Given the description of an element on the screen output the (x, y) to click on. 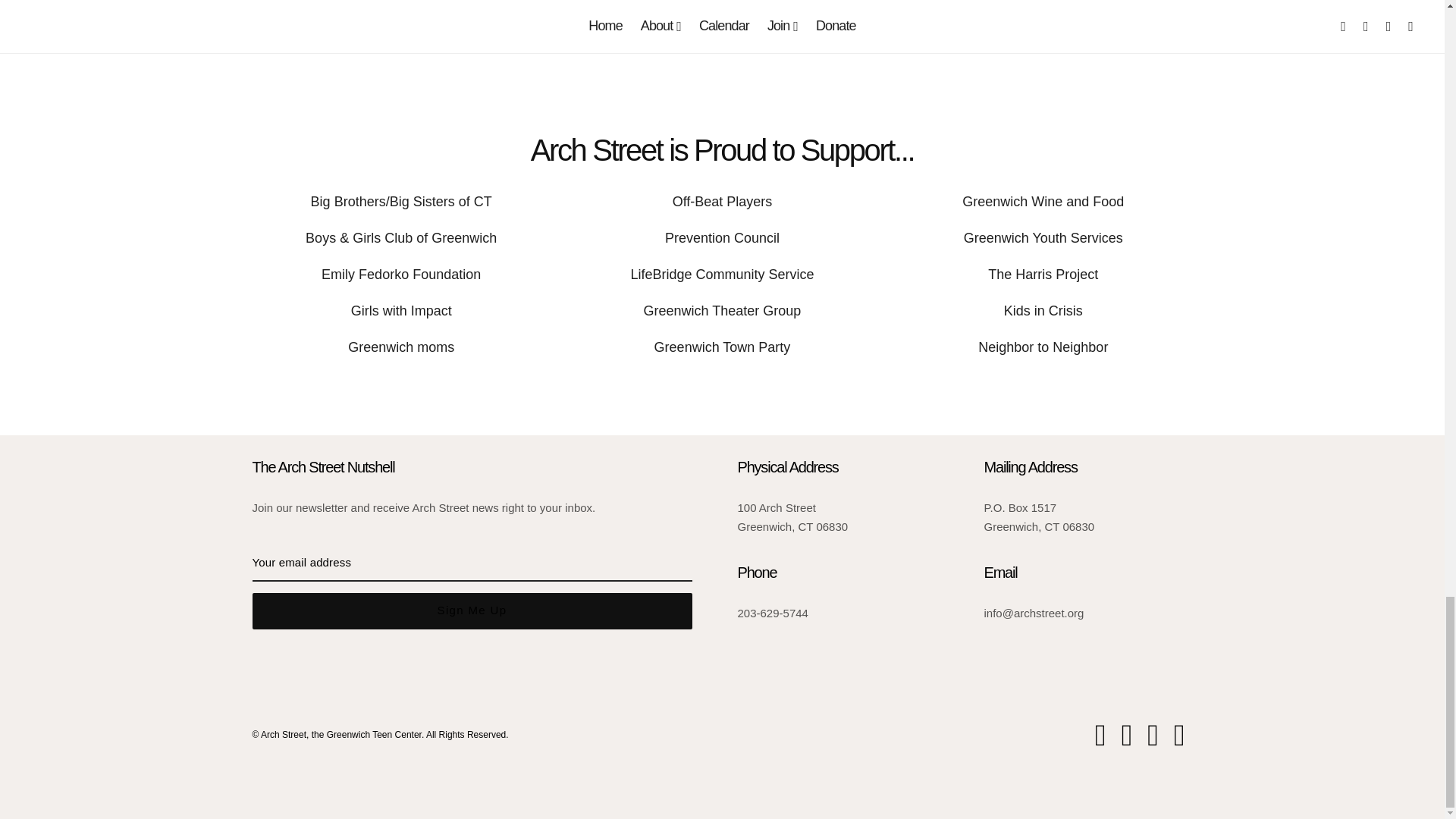
Sign Me Up (471, 610)
Sign Me Up (471, 610)
